Given the description of an element on the screen output the (x, y) to click on. 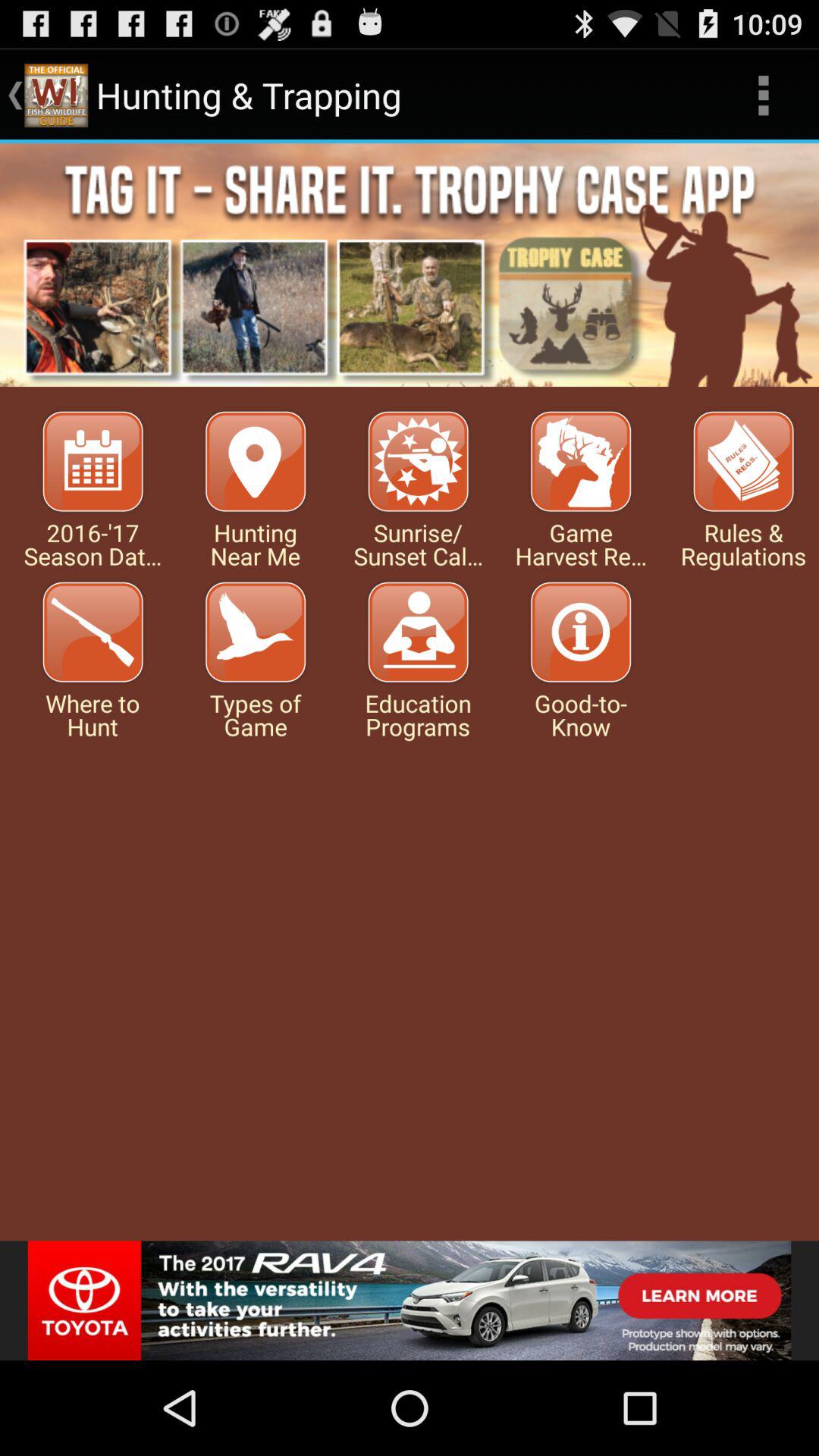
advertisement (409, 264)
